Given the description of an element on the screen output the (x, y) to click on. 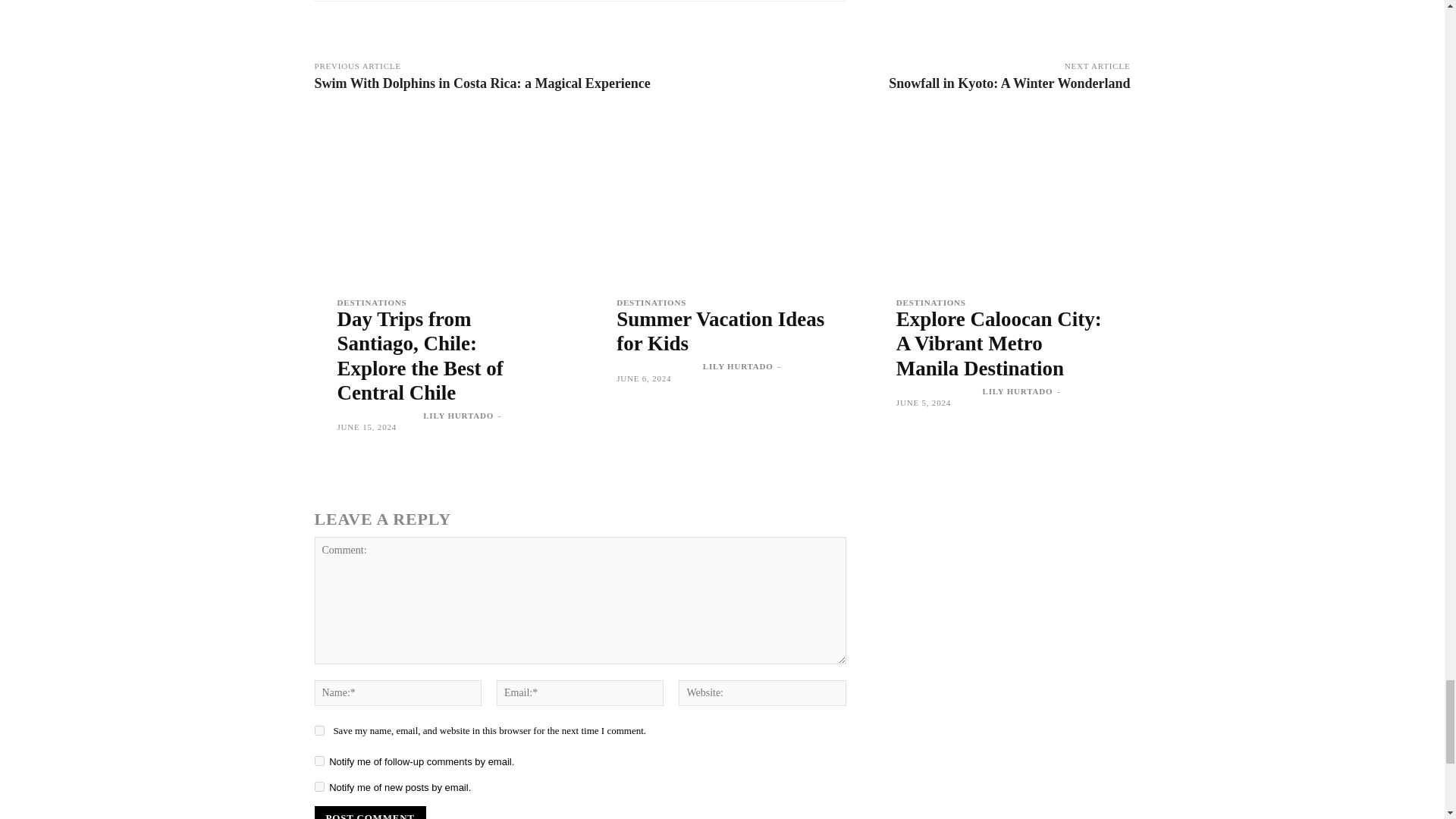
subscribe (318, 760)
subscribe (318, 786)
yes (318, 730)
Post Comment (369, 812)
